Given the description of an element on the screen output the (x, y) to click on. 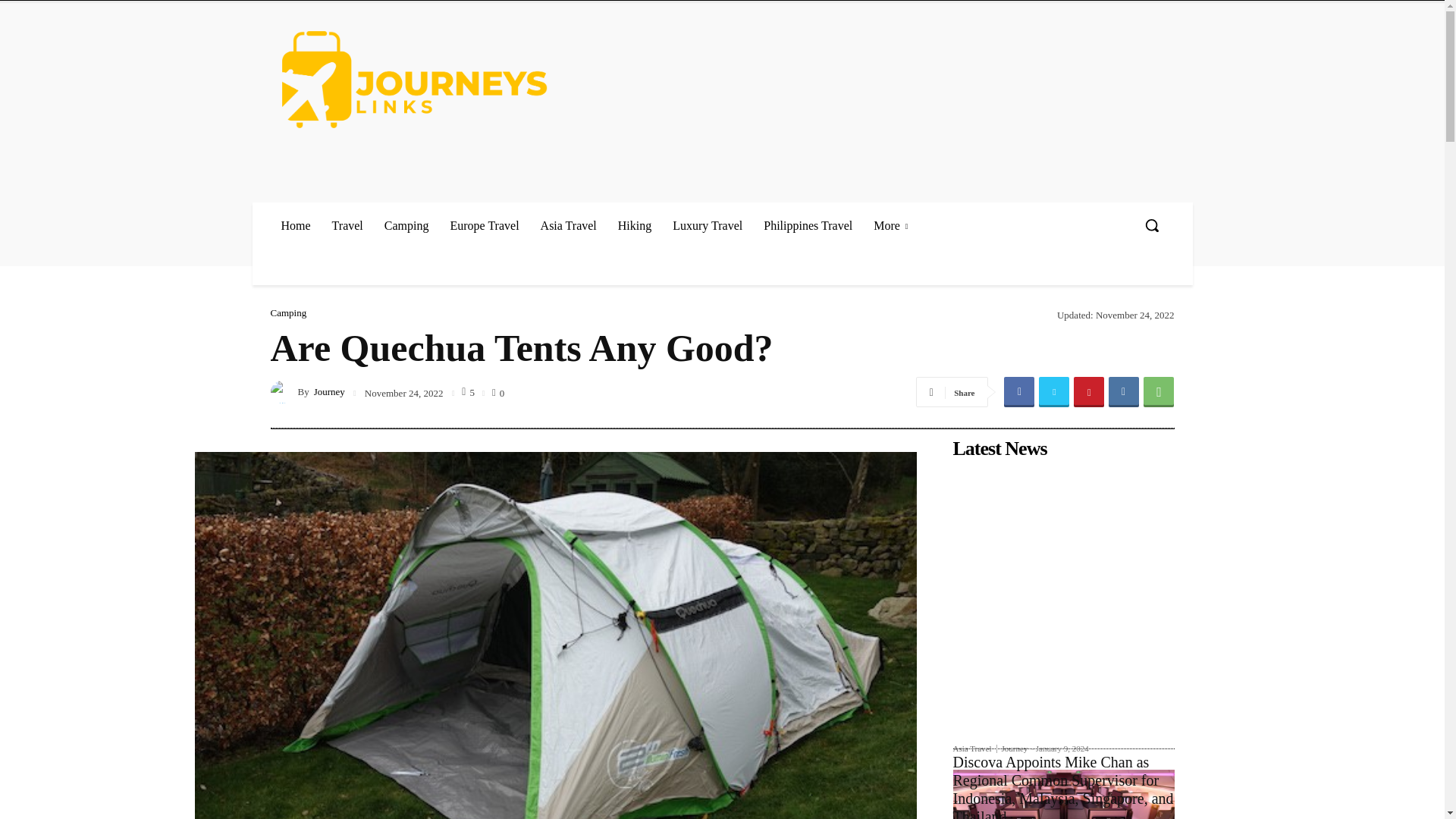
Twitter (1053, 391)
Journey (283, 391)
WhatsApp (1157, 391)
Facebook (1018, 391)
Travel (347, 225)
More (890, 225)
Asia Travel (568, 225)
Europe Travel (484, 225)
Hiking (634, 225)
VK (1123, 391)
Home (294, 225)
Luxury Travel (707, 225)
Pinterest (1088, 391)
Philippines Travel (807, 225)
Camping (406, 225)
